Given the description of an element on the screen output the (x, y) to click on. 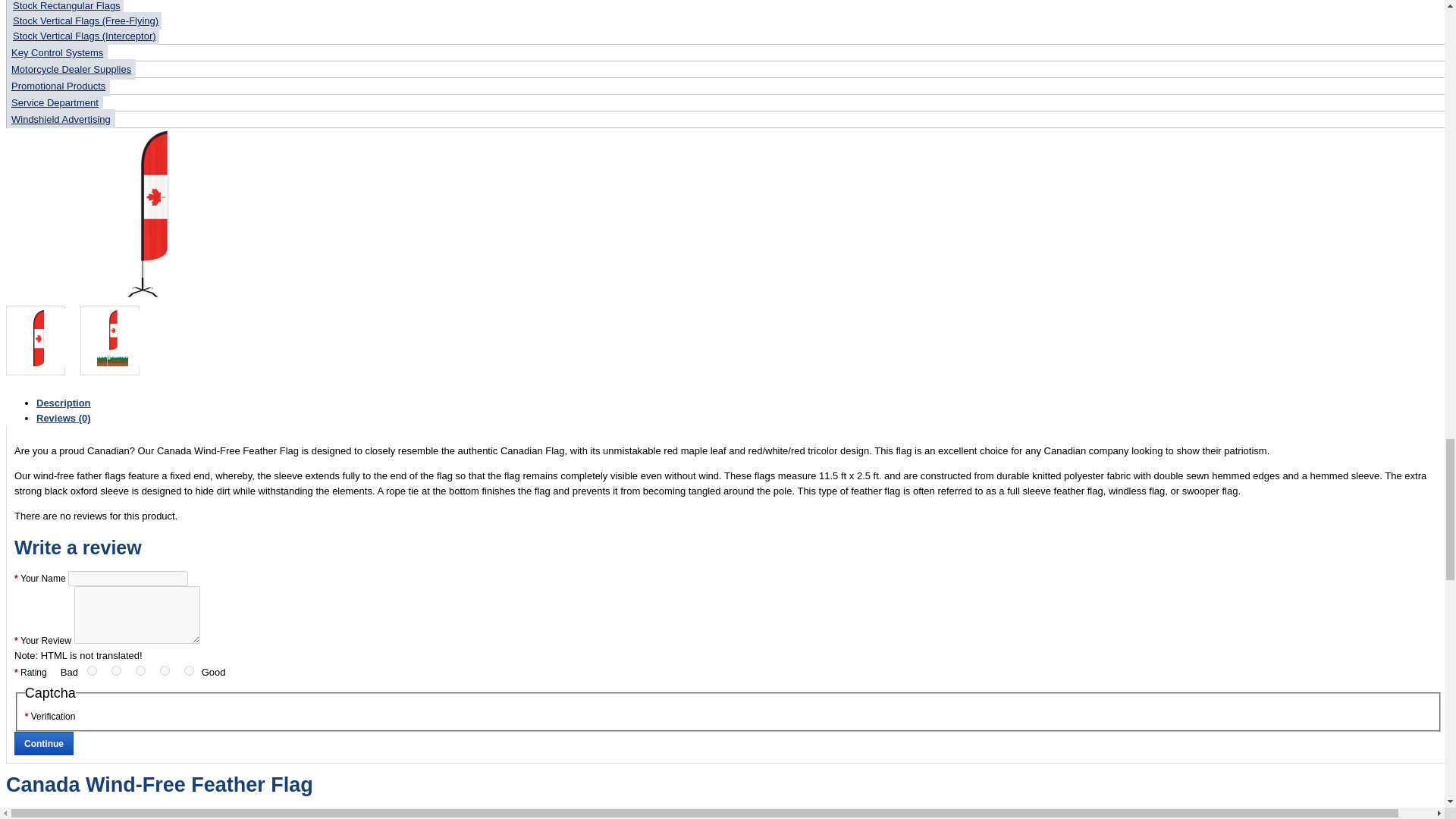
Canada Wind-Free Feather Flag (38, 338)
2 (116, 670)
4 (165, 670)
1 (92, 670)
5 (188, 670)
3 (140, 670)
Canada Wind-Free Feather Flag (147, 297)
Canada Wind-Free Feather Flag (112, 338)
Canada Wind-Free Feather Flag (147, 214)
